Given the description of an element on the screen output the (x, y) to click on. 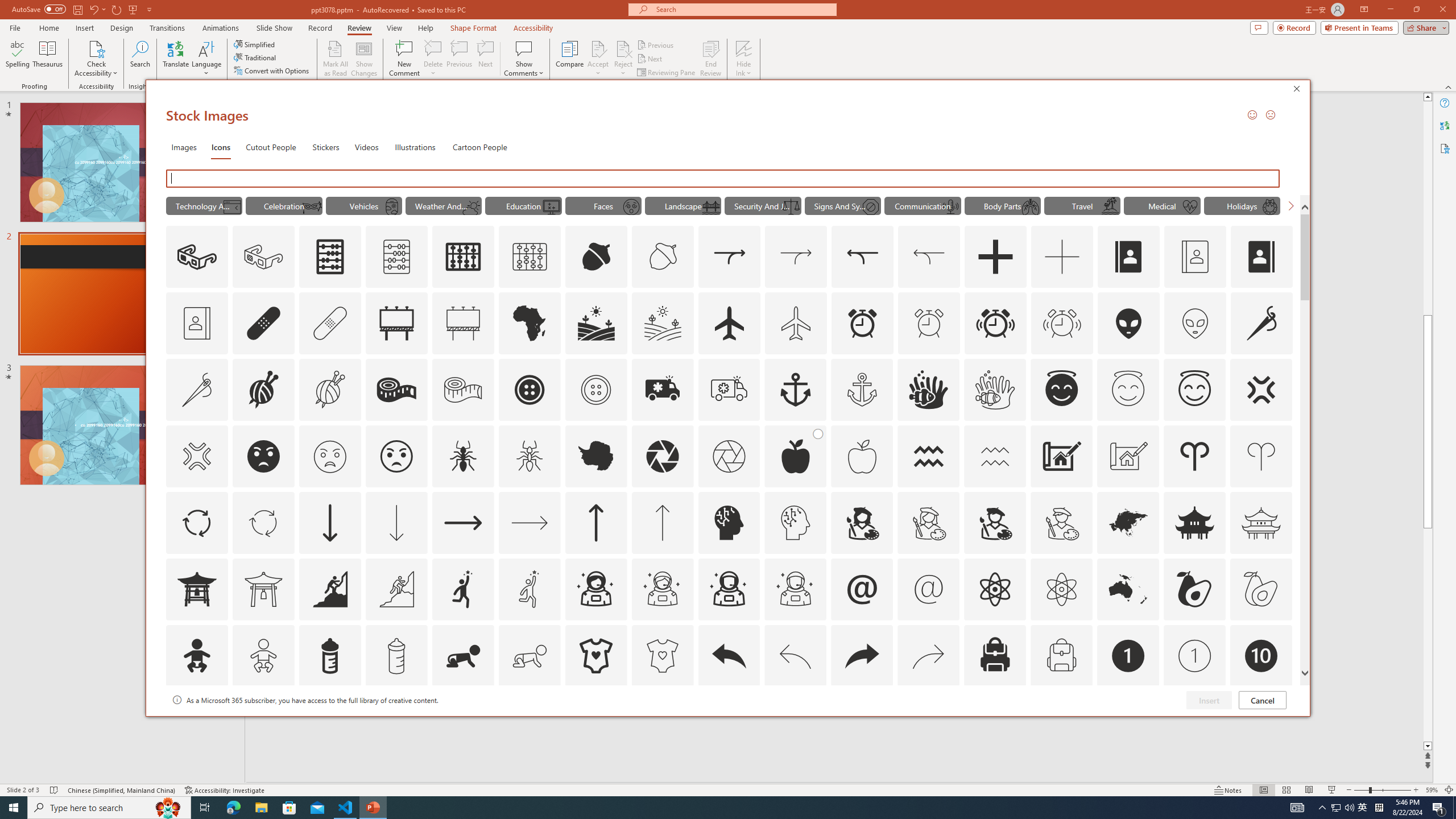
AutomationID: Icons_BabyCrawling (462, 655)
AutomationID: Icons_AlienFace_M (1194, 323)
AutomationID: Icons_Podcast_M (950, 206)
AutomationID: Icons_AlterationsTailoring_M (196, 389)
AutomationID: Icons_BridgeScene_M (710, 206)
AutomationID: Icons_Back_RTL_M (928, 655)
AutomationID: Icons_Baby (196, 655)
AutomationID: Icons_Aspiration (329, 588)
AutomationID: Icons_Badge6_M (861, 721)
AutomationID: Icons_Advertising (397, 323)
